Given the description of an element on the screen output the (x, y) to click on. 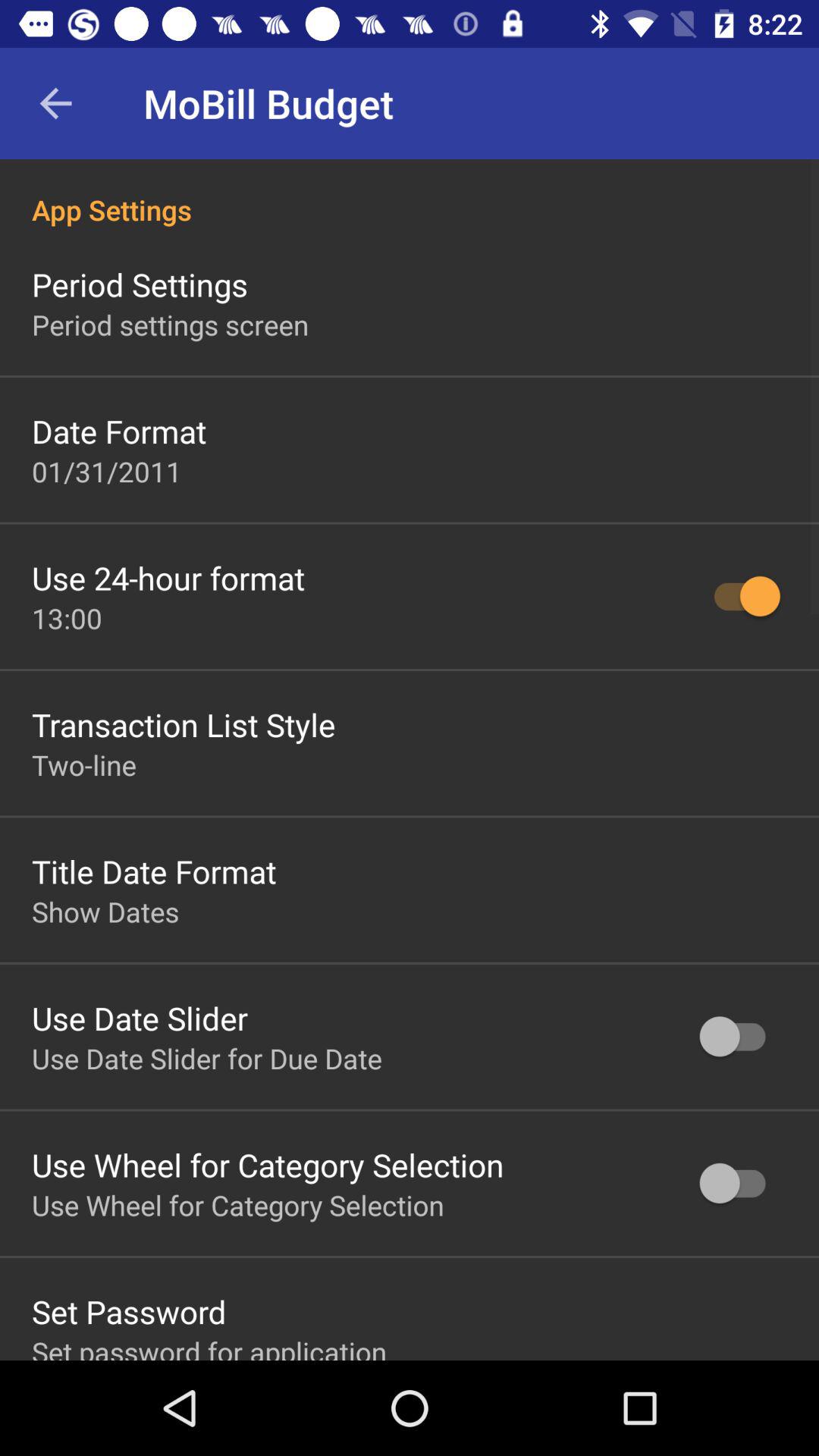
click icon above the title date format item (83, 764)
